Given the description of an element on the screen output the (x, y) to click on. 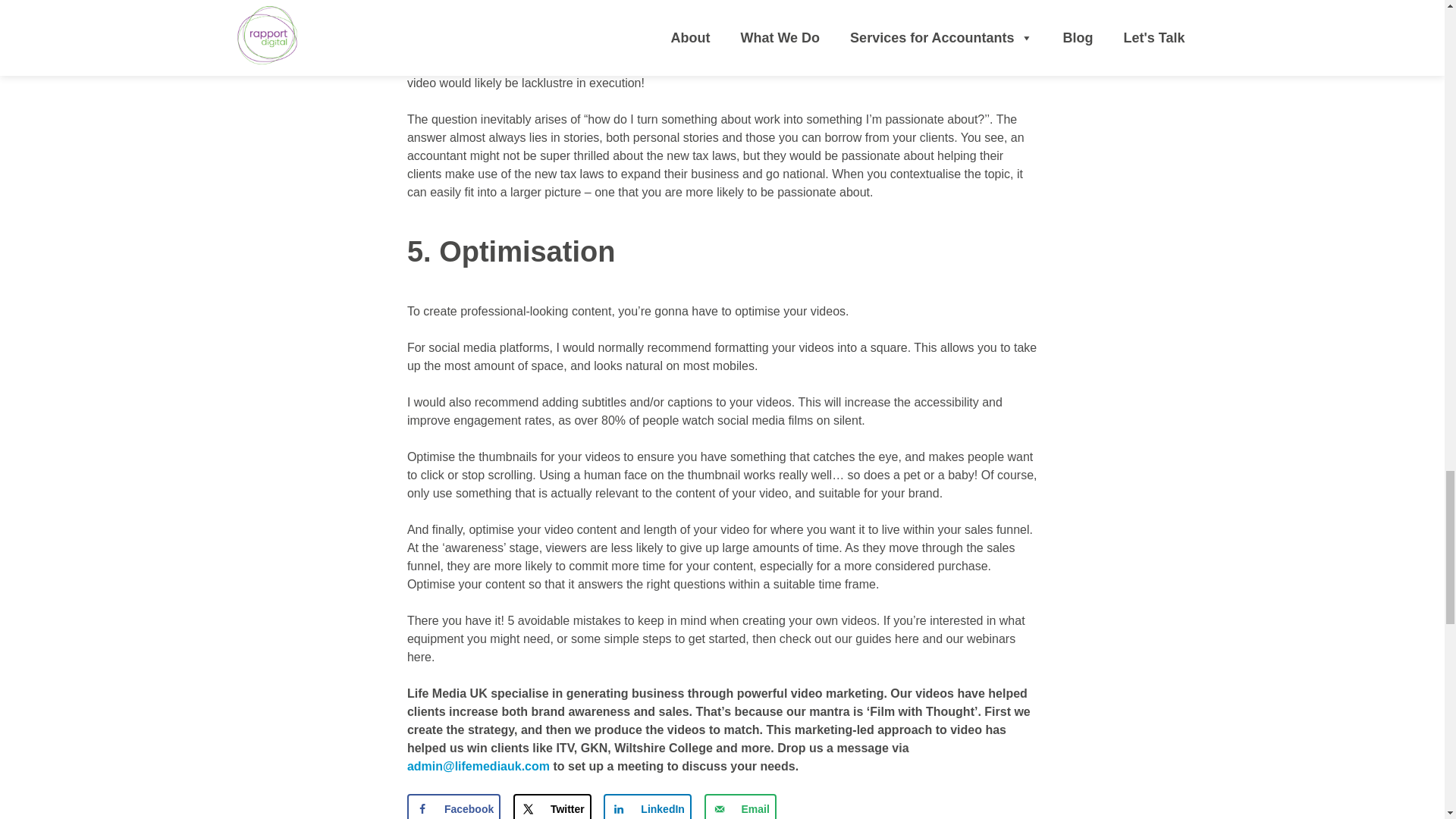
Email (740, 806)
Twitter (552, 806)
Share on LinkedIn (647, 806)
Facebook (453, 806)
LinkedIn (647, 806)
Share on X (552, 806)
Share on Facebook (453, 806)
Send over email (740, 806)
